Given the description of an element on the screen output the (x, y) to click on. 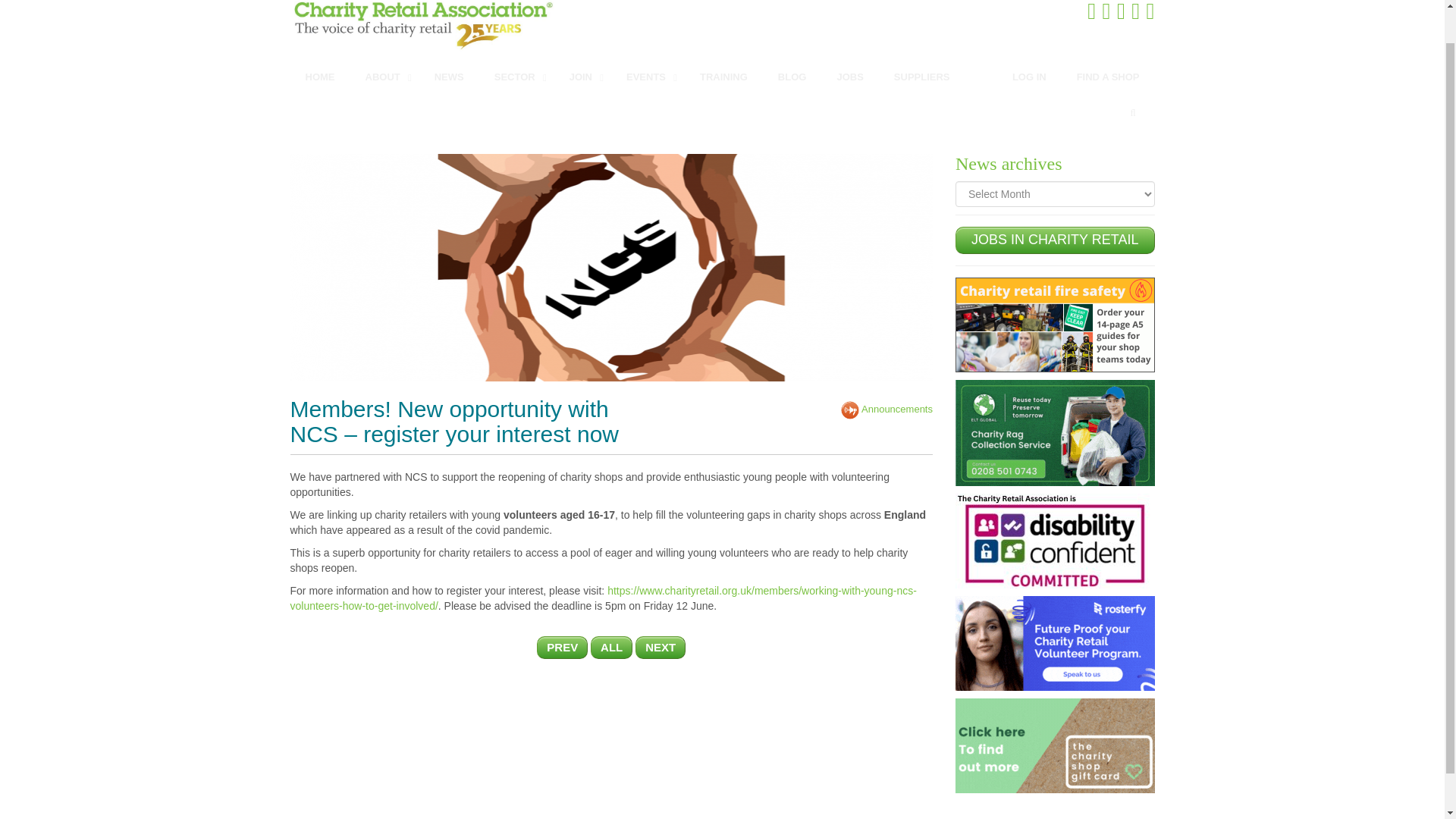
EVENTS (647, 77)
CRA is Disability Confident committed (1054, 539)
Charity Retail Association (499, 26)
The Charity Shop Gift Card (1054, 744)
ABOUT (384, 77)
Rosterfy (1054, 642)
HOME (319, 77)
Charity Retail Fire Safety guides (1054, 323)
NEWS (449, 77)
TRAINING (723, 77)
SECTOR (516, 77)
ELT Global (1054, 431)
